Given the description of an element on the screen output the (x, y) to click on. 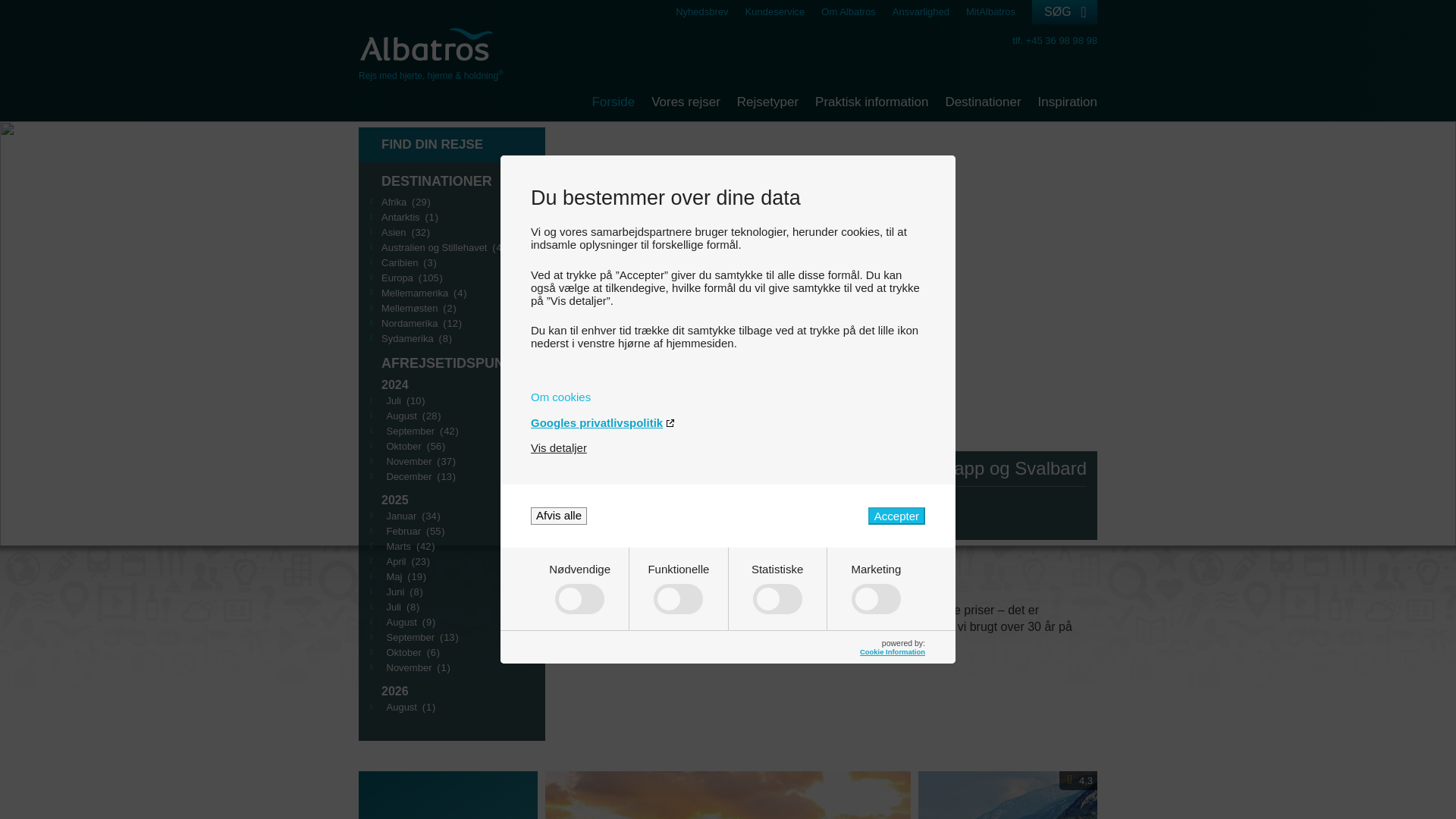
Om cookies (727, 396)
Vis detaljer (558, 447)
Googles privatlivspolitik (727, 422)
